Given the description of an element on the screen output the (x, y) to click on. 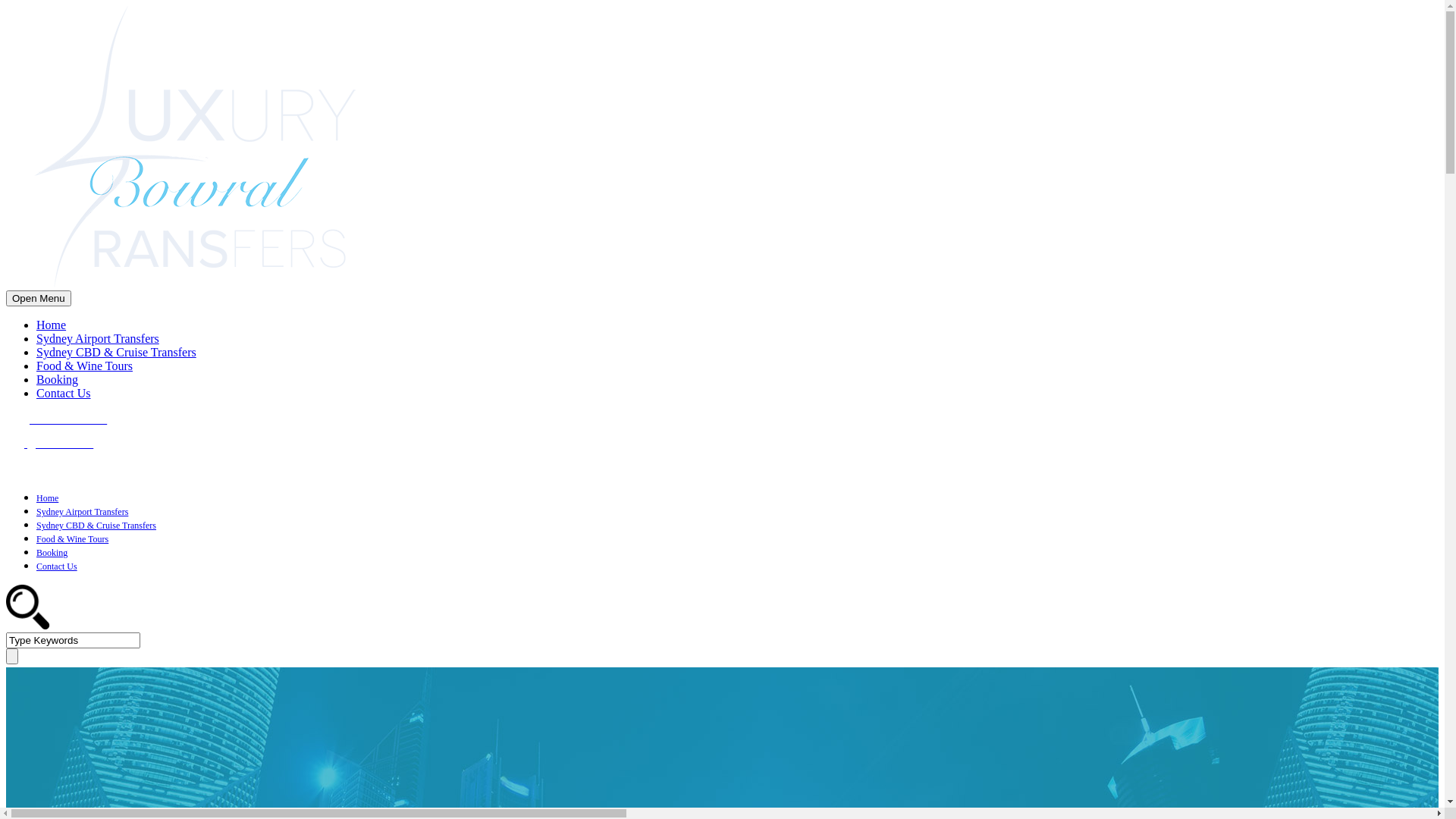
Sydney Airport Transfers Element type: text (82, 511)
+61 408 535 279 Element type: text (722, 424)
Home Element type: text (50, 324)
Food & Wine Tours Element type: text (84, 365)
Booking Element type: text (51, 552)
Email David Element type: text (49, 442)
Home Element type: text (47, 497)
Open Menu Element type: text (38, 298)
Food & Wine Tours Element type: text (72, 538)
Sydney CBD & Cruise Transfers Element type: text (96, 525)
Contact Us Element type: text (56, 566)
Sydney CBD & Cruise Transfers Element type: text (116, 351)
Booking Element type: text (57, 379)
Contact Us Element type: text (63, 392)
Sydney Airport Transfers Element type: text (97, 338)
